Given the description of an element on the screen output the (x, y) to click on. 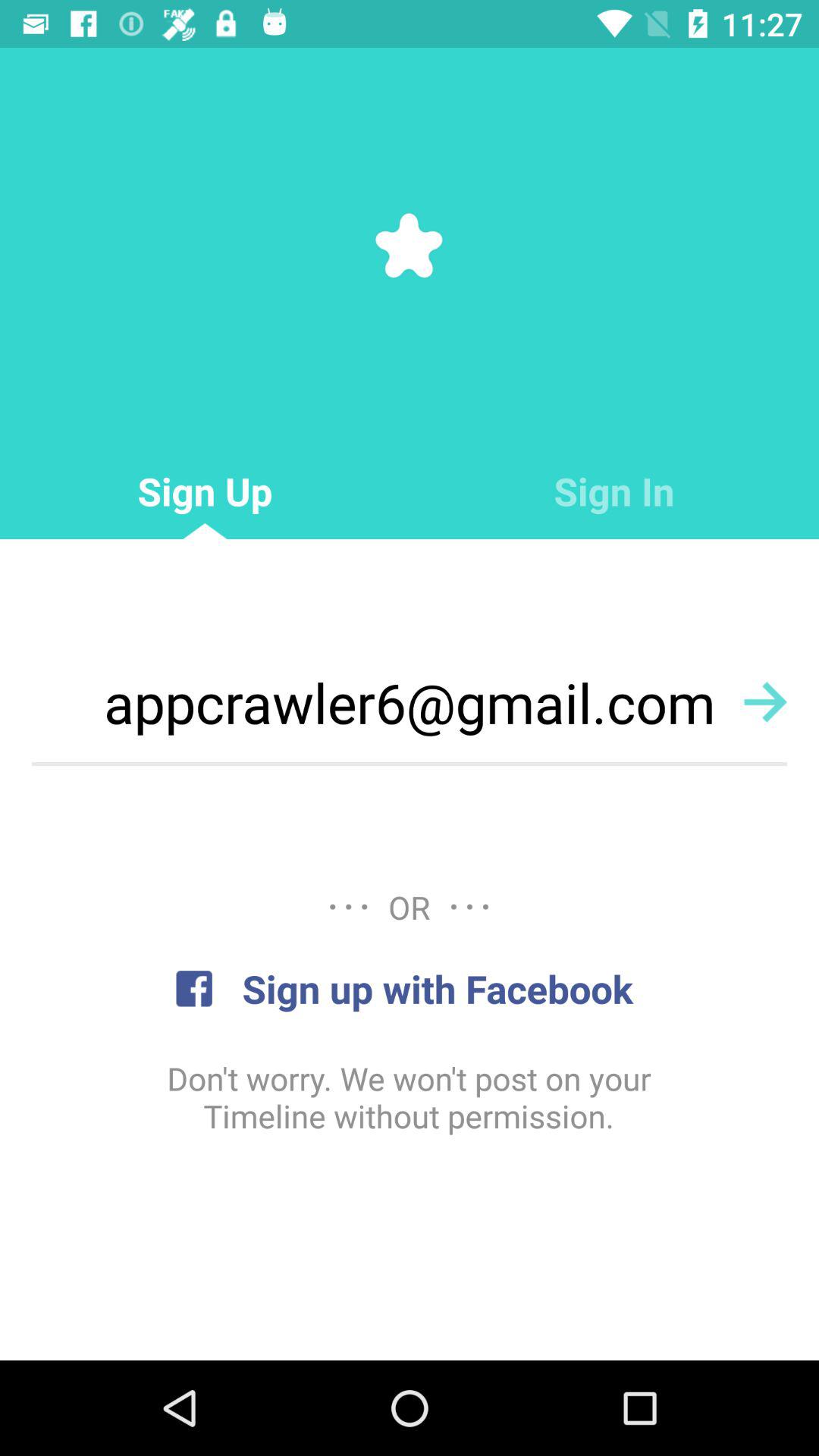
open the icon above appcrawler6@gmail.com (614, 491)
